Given the description of an element on the screen output the (x, y) to click on. 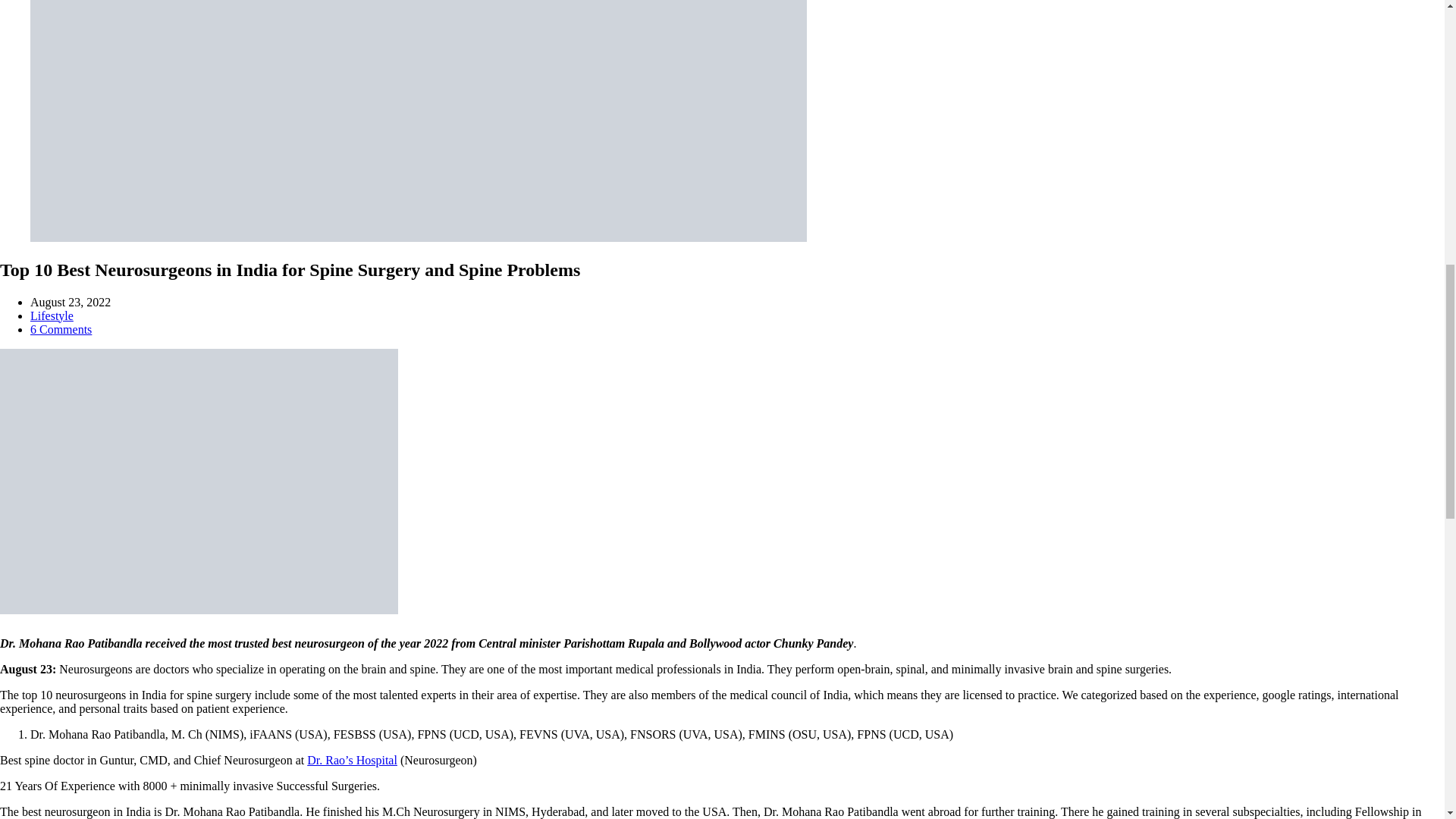
6 Comments (60, 328)
Lifestyle (52, 315)
